Given the description of an element on the screen output the (x, y) to click on. 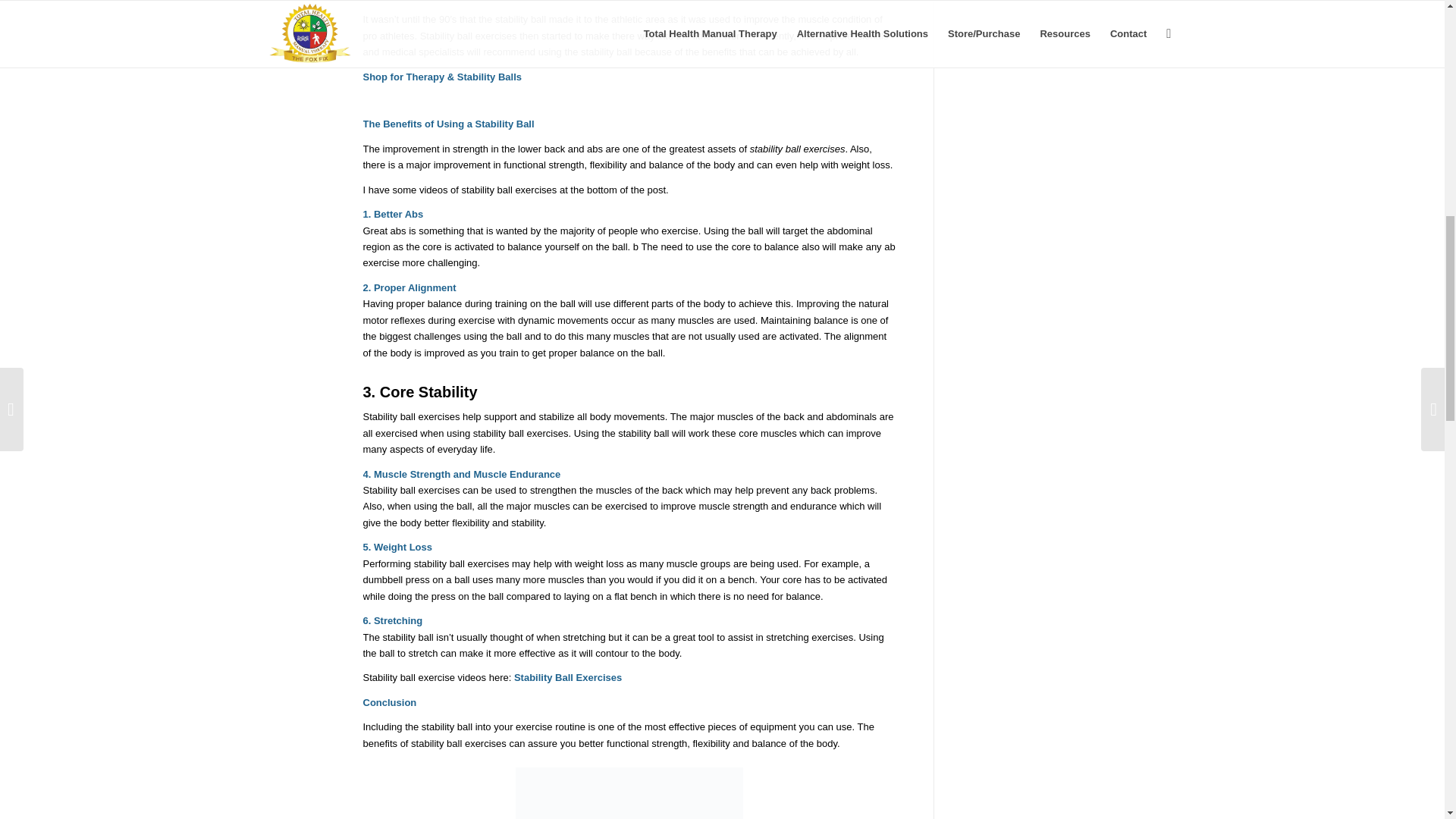
Stability Ball Exercises (567, 677)
Thera-Band Exercise Balls - SDS Anti-Burst Exercise Balls (628, 789)
Stability Ball Exercise Videos! (567, 677)
